Given the description of an element on the screen output the (x, y) to click on. 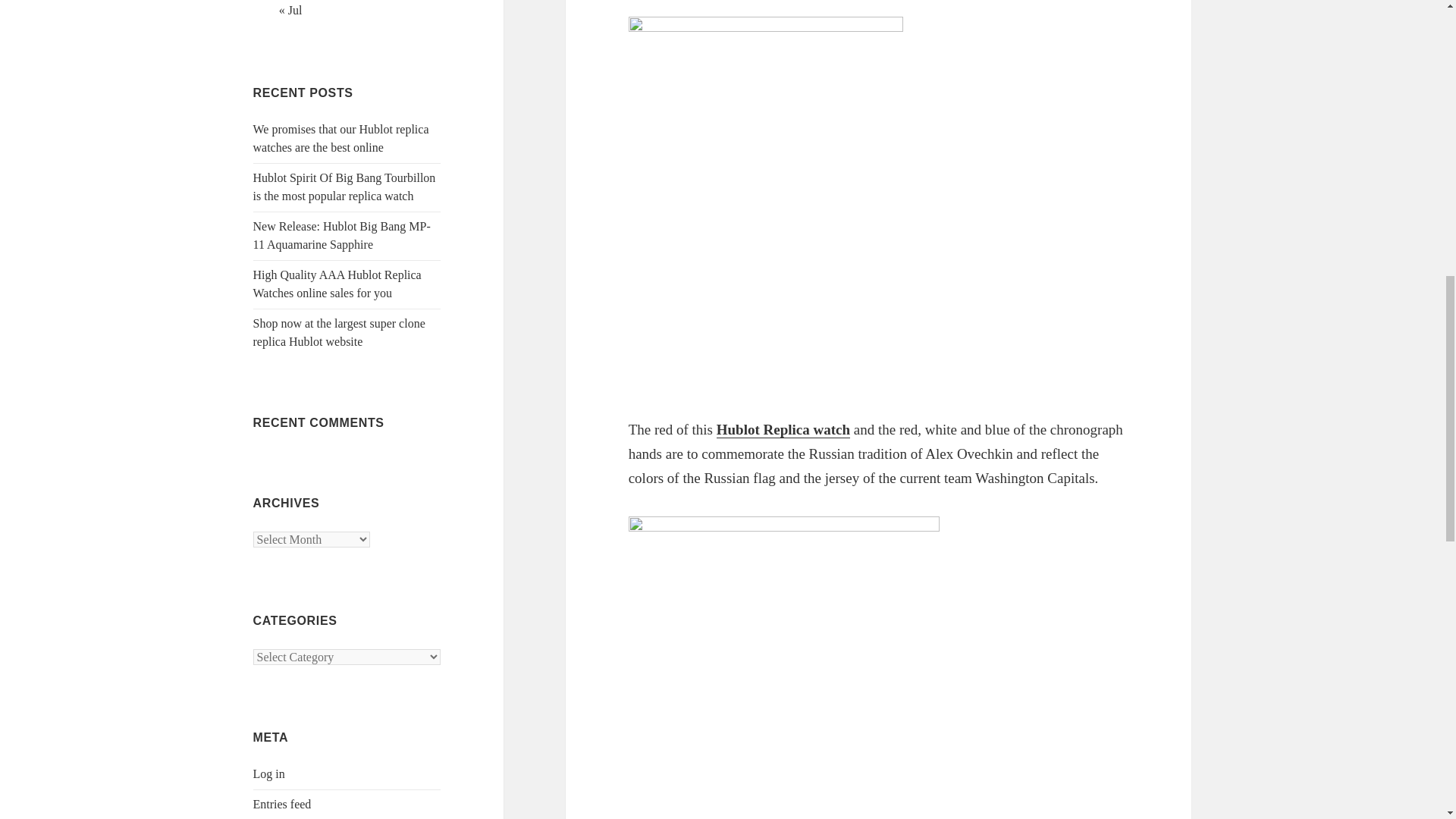
Log in (269, 773)
Entries feed (282, 803)
Hublot Replica watch (783, 429)
Shop now at the largest super clone replica Hublot website (339, 332)
High Quality AAA Hublot Replica Watches online sales for you (337, 283)
New Release: Hublot Big Bang MP-11 Aquamarine Sapphire (341, 235)
